Given the description of an element on the screen output the (x, y) to click on. 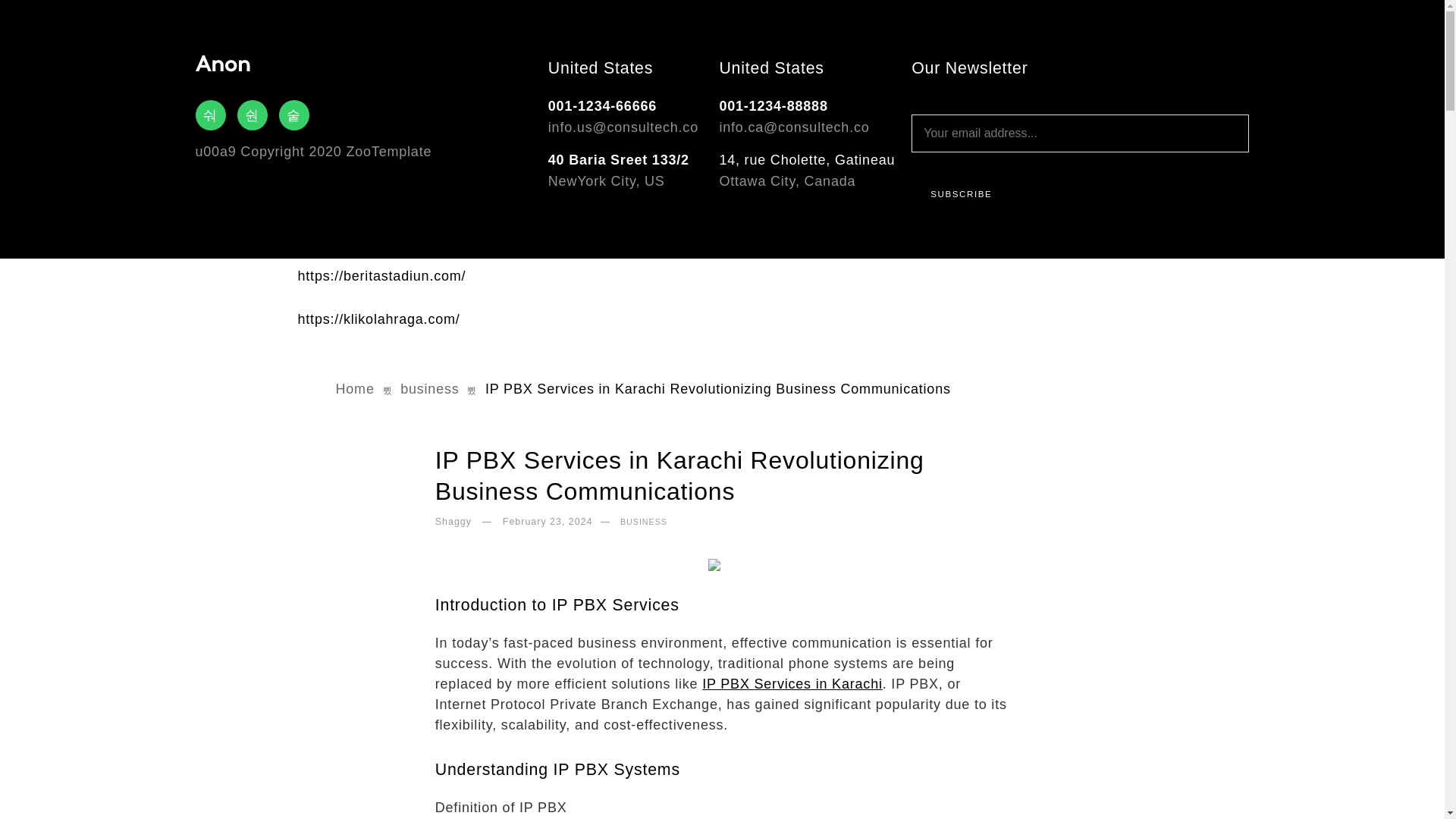
subscribe (960, 193)
IP PBX Services in Karachi (791, 683)
business (429, 388)
BUSINESS (643, 522)
Home (356, 388)
Shaggy (455, 522)
shaggy (455, 522)
subscribe (960, 193)
